Given the description of an element on the screen output the (x, y) to click on. 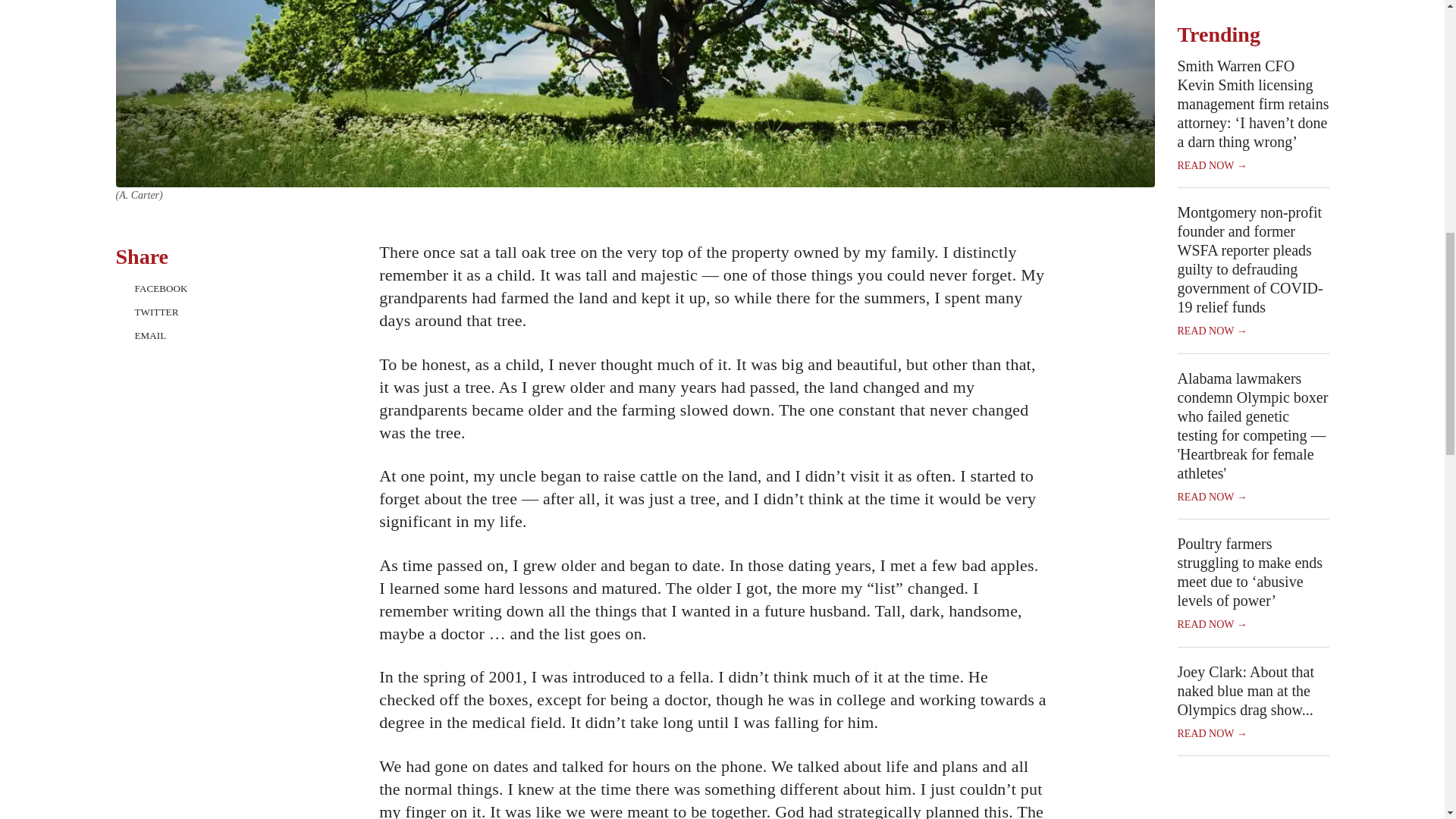
FACEBOOK (181, 272)
